Given the description of an element on the screen output the (x, y) to click on. 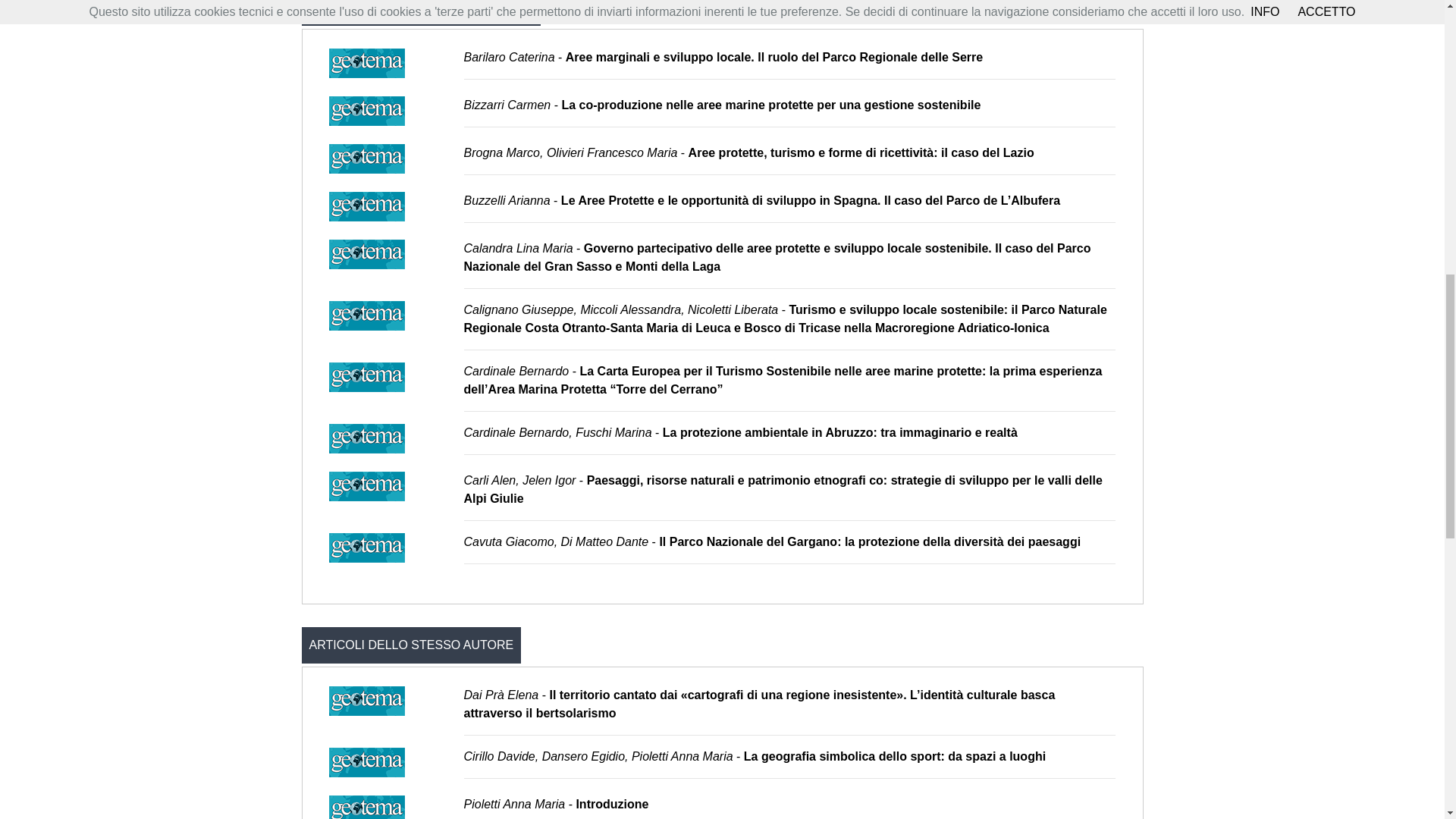
ARTICOLI DELLO STESSO FASCICOLO (421, 12)
ARTICOLI DELLO STESSO AUTORE (411, 645)
Pioletti Anna Maria - Introduzione (556, 804)
